Given the description of an element on the screen output the (x, y) to click on. 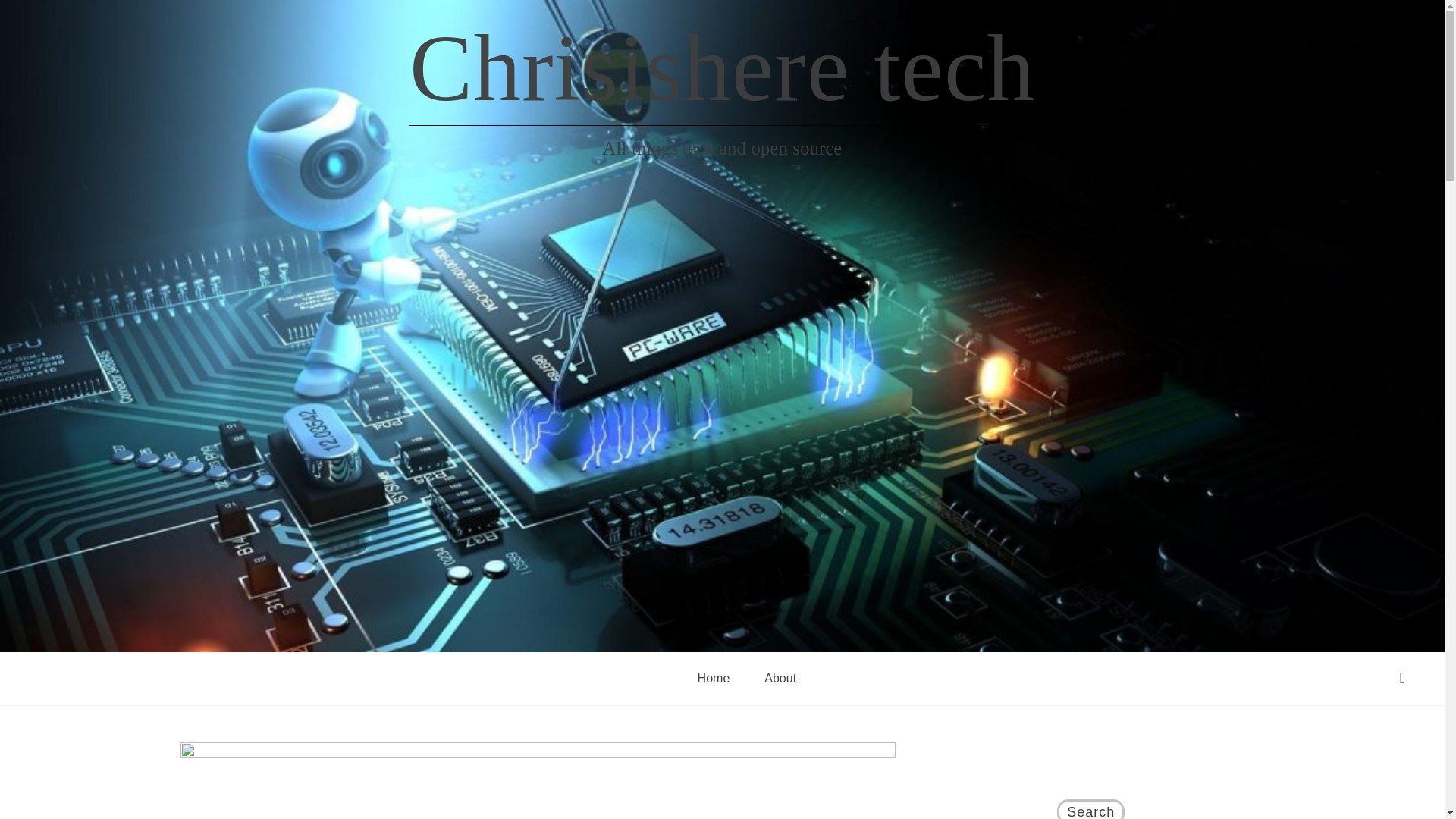
About (780, 678)
Home (713, 678)
About (780, 678)
Home (713, 678)
Chrisishere tech (722, 68)
